Given the description of an element on the screen output the (x, y) to click on. 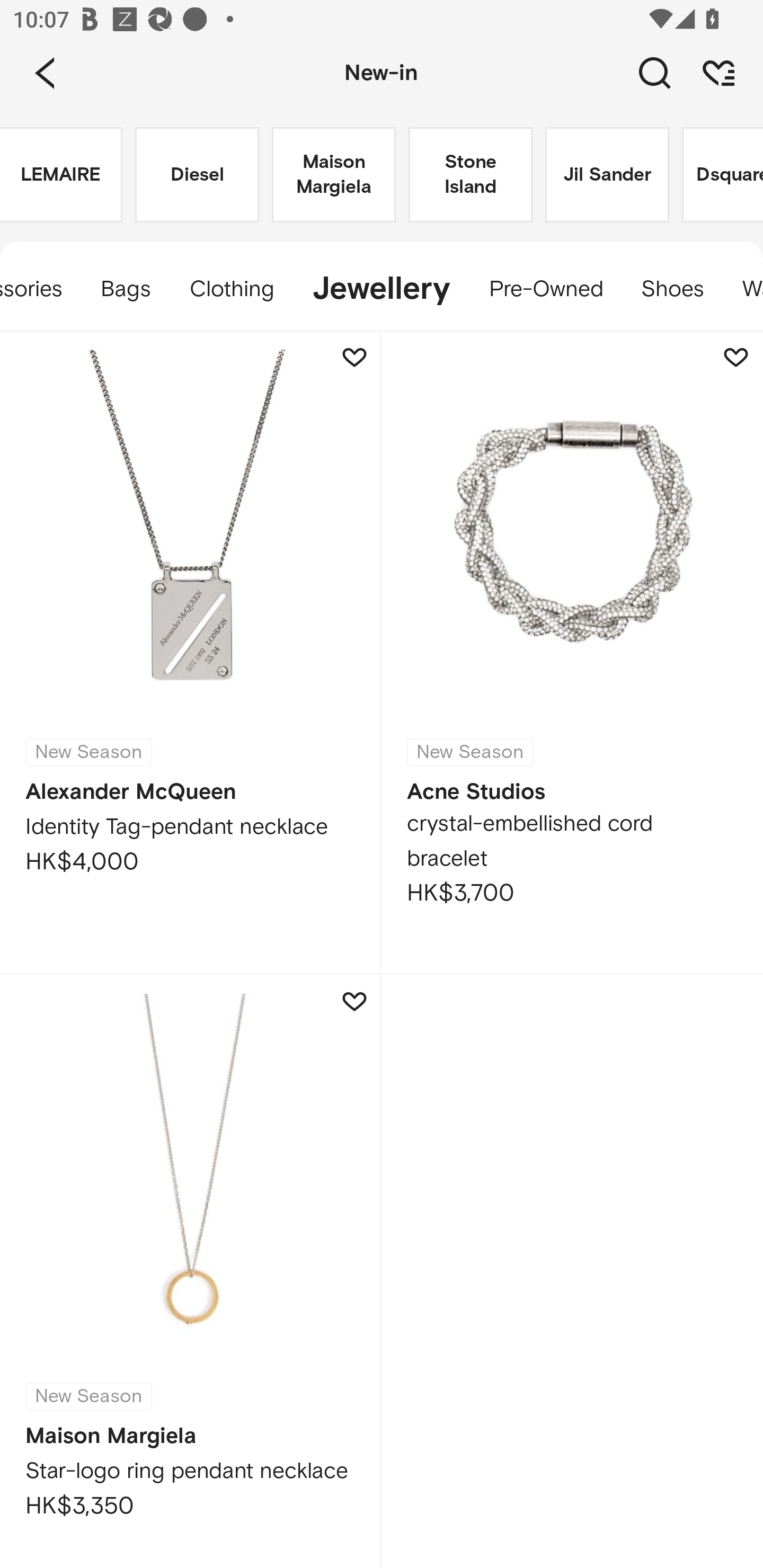
LEMAIRE (61, 174)
Diesel (197, 174)
Maison Margiela (333, 174)
Stone Island (470, 174)
Jil Sander (607, 174)
Dsquared2 (722, 174)
Bags (125, 289)
Clothing (231, 289)
Jewellery (380, 289)
Pre-Owned (545, 289)
Shoes (672, 289)
